Given the description of an element on the screen output the (x, y) to click on. 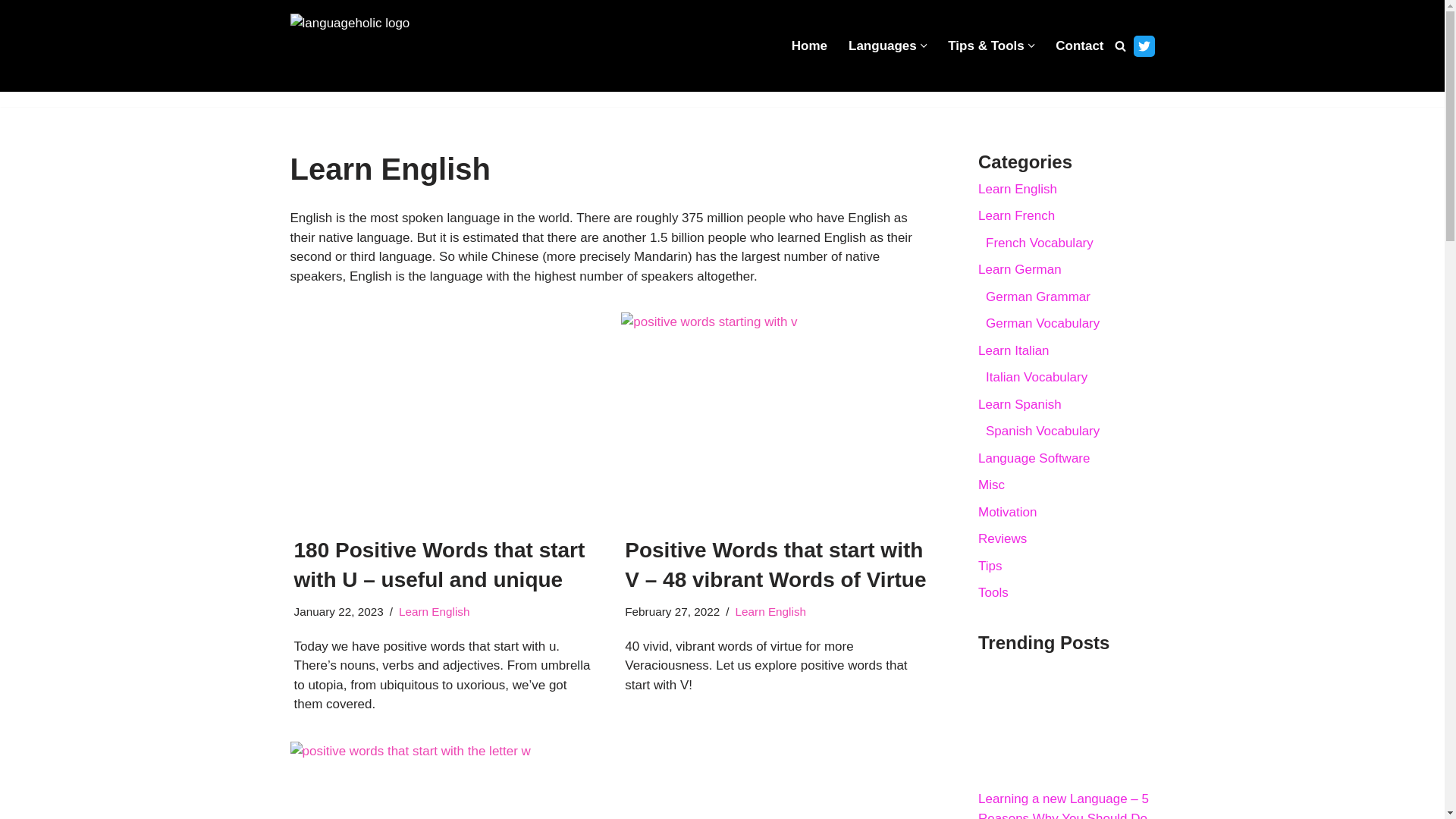
Languages (882, 45)
Home (809, 45)
Contact (1079, 45)
Skip to content (11, 31)
Twitter (1143, 45)
